Given the description of an element on the screen output the (x, y) to click on. 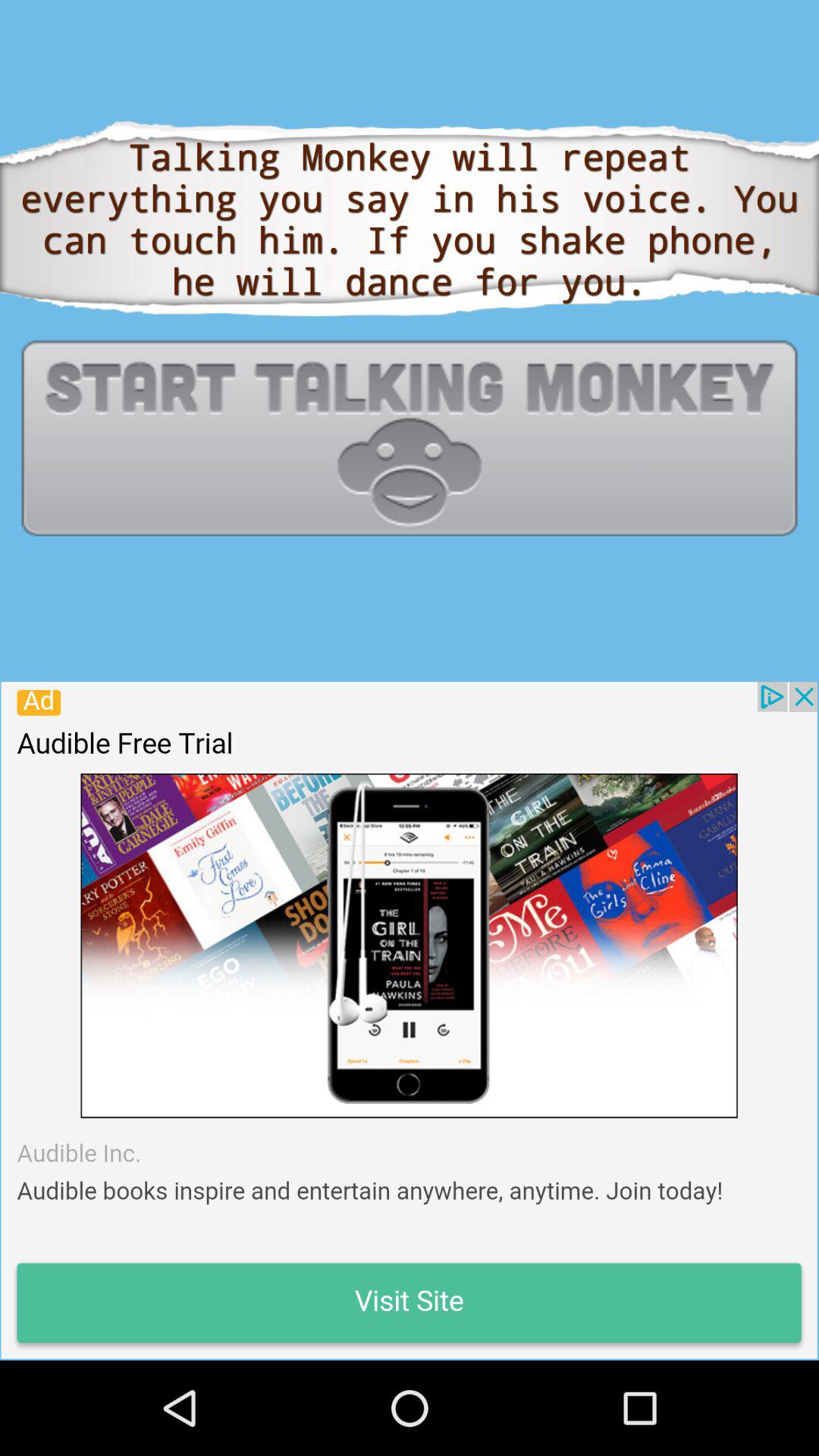
start the app (409, 437)
